Given the description of an element on the screen output the (x, y) to click on. 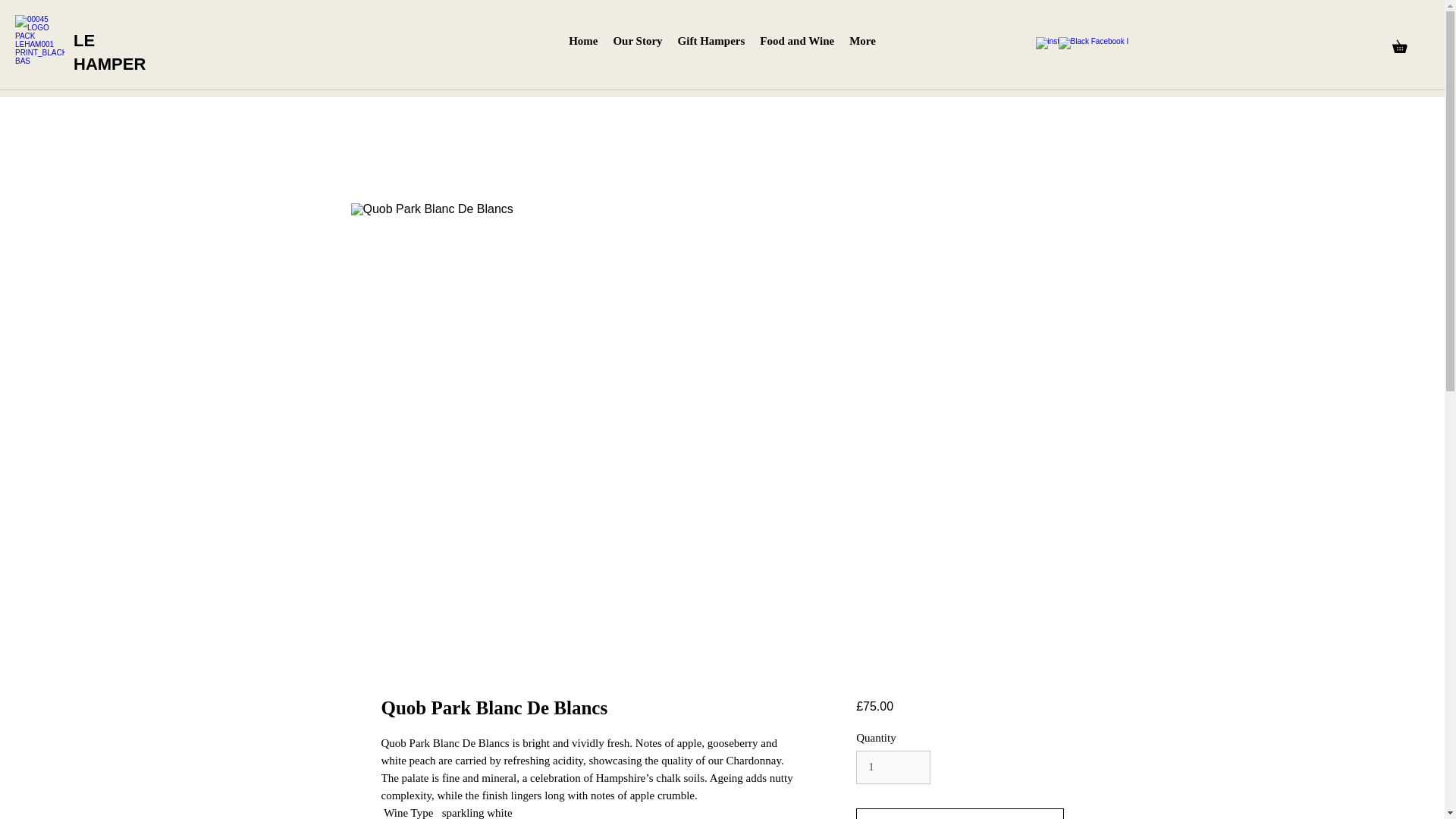
Our Story (637, 44)
1 (893, 767)
Add to your Basket (959, 813)
Gift Hampers (710, 44)
Home (582, 44)
Food and Wine (796, 44)
